Given the description of an element on the screen output the (x, y) to click on. 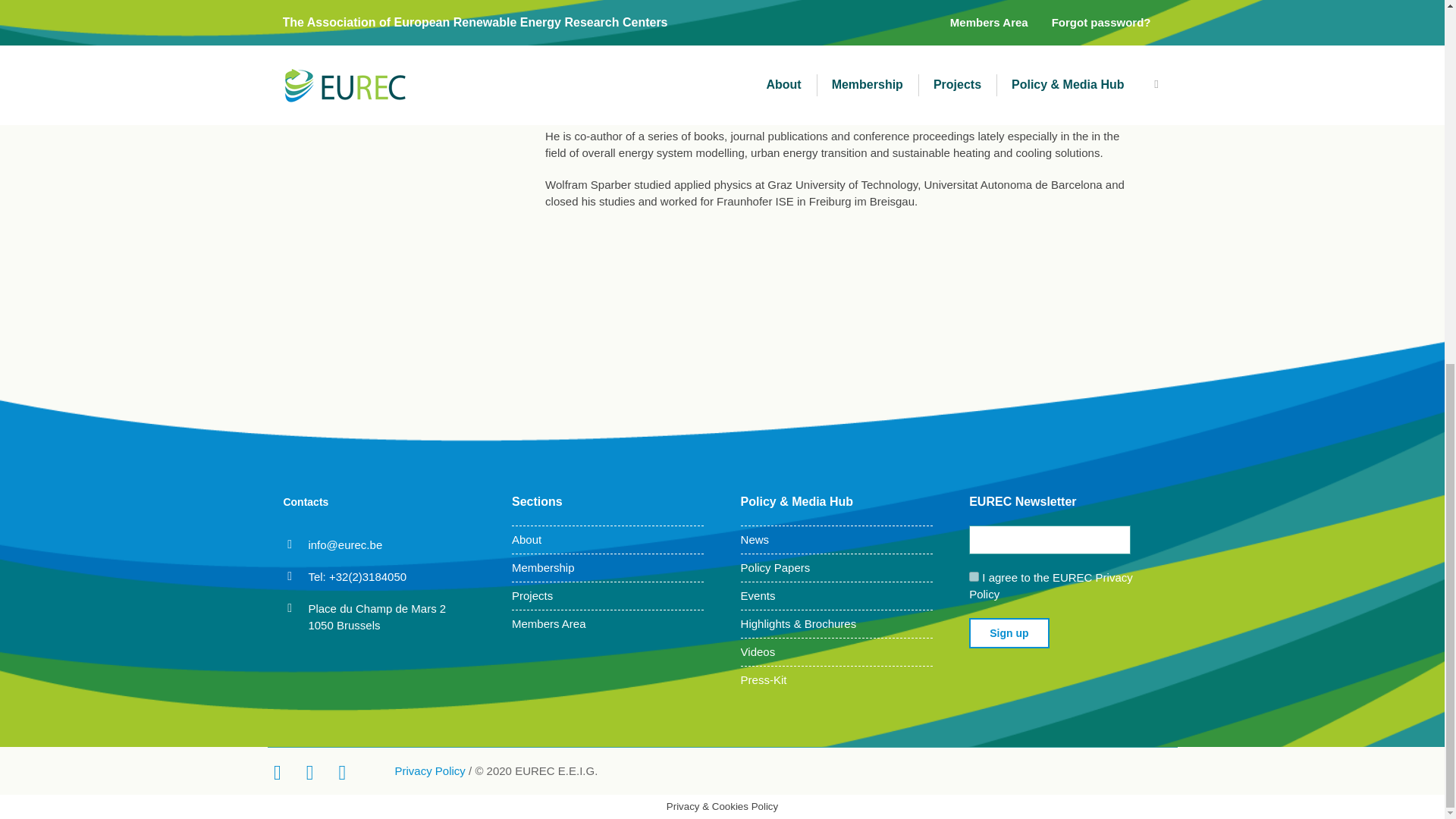
LinkedIn (306, 771)
Twitter (274, 771)
1 (973, 576)
Sign up (1008, 633)
YouTube (339, 771)
